Given the description of an element on the screen output the (x, y) to click on. 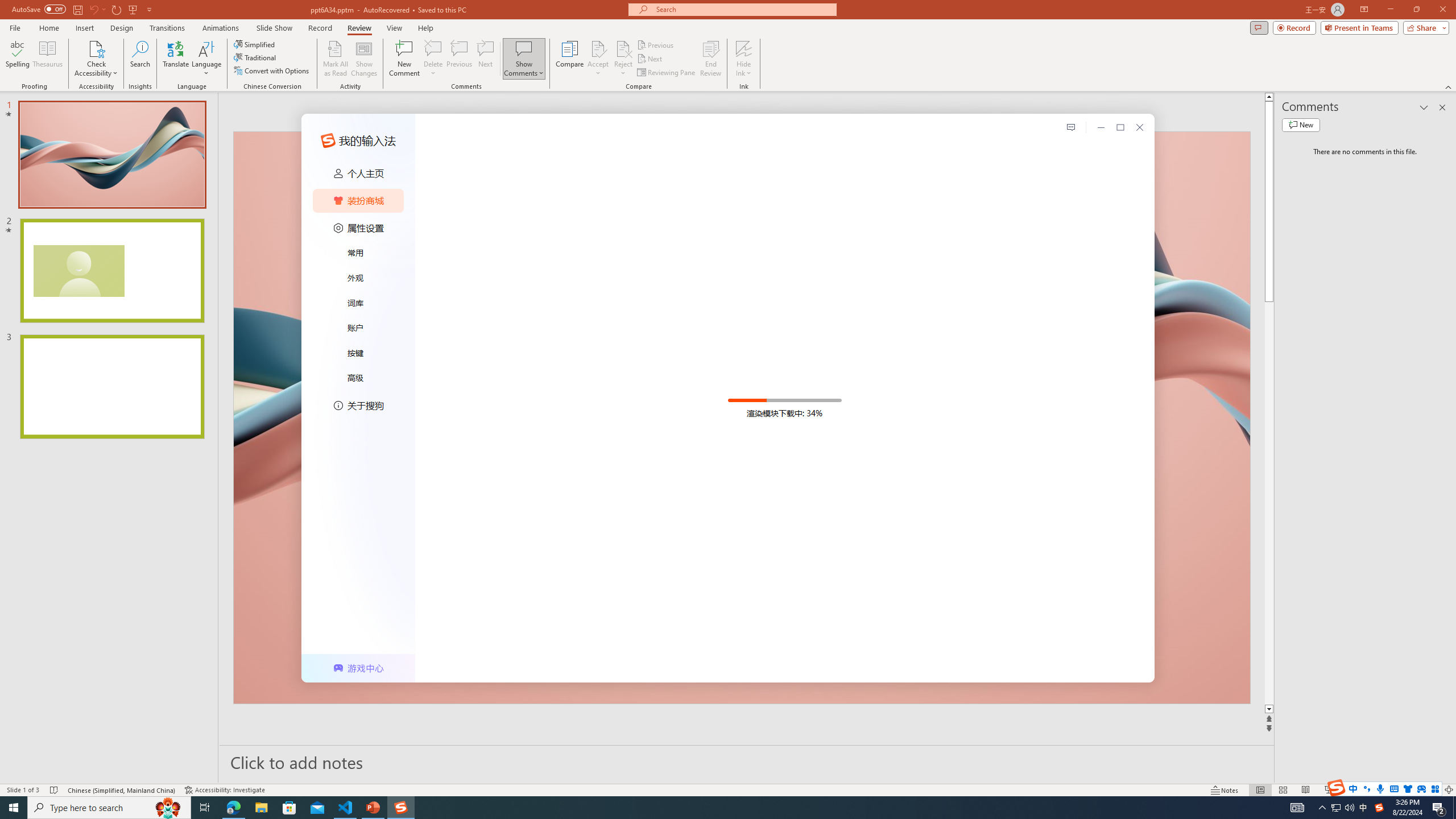
Next (649, 58)
Zoom 140% (1430, 790)
